Given the description of an element on the screen output the (x, y) to click on. 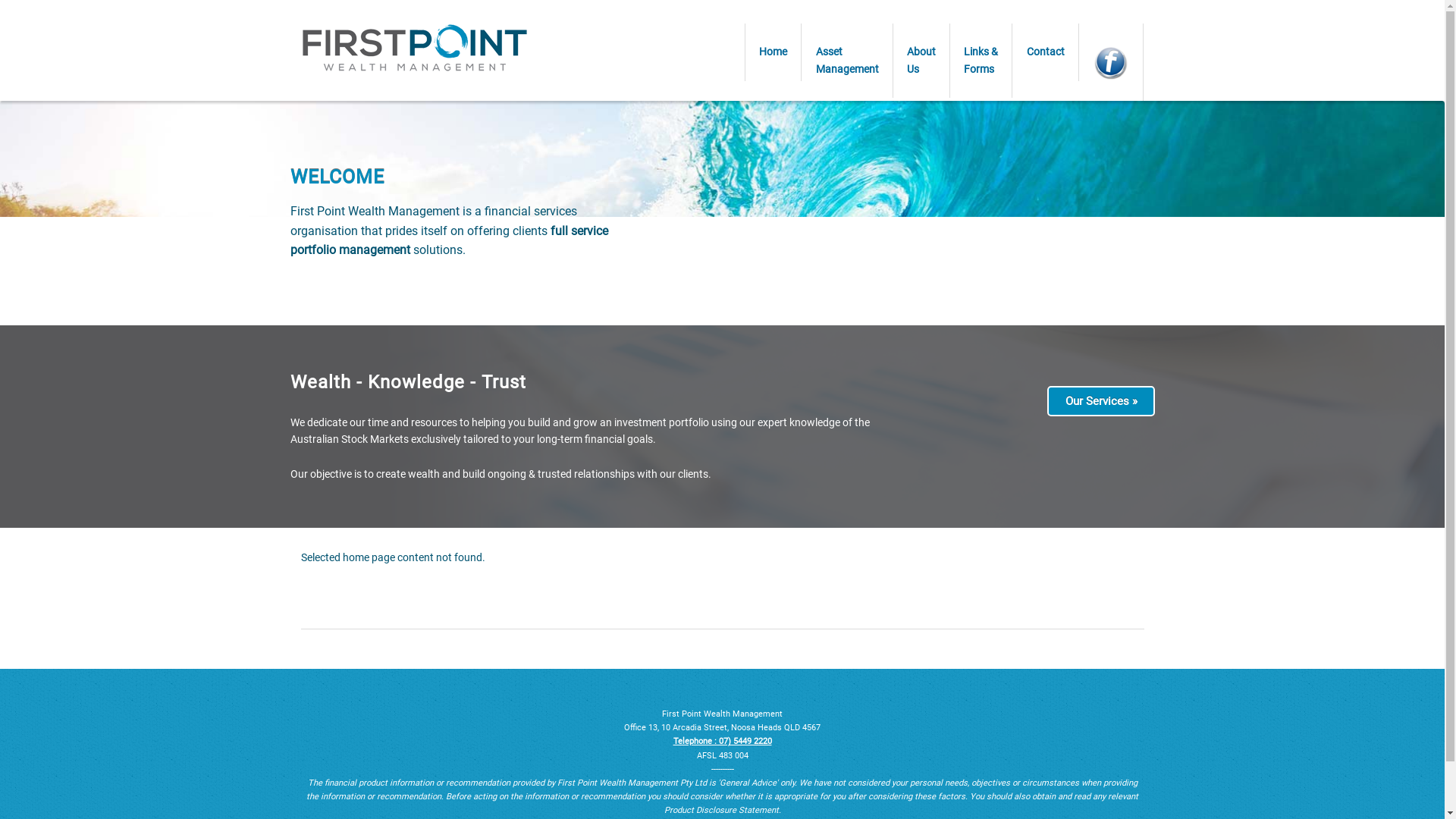
Links &
Forms Element type: text (980, 60)
full service portfolio management Element type: text (448, 240)
Home Element type: text (772, 52)
Stockbrokers & Share Portfolio Management Sunshine Coast Element type: hover (413, 46)
About
Us Element type: text (921, 60)
Telephone : 07) 5449 2220 Element type: text (722, 741)
Contact Element type: text (1045, 52)
WELCOME Element type: text (336, 177)
Asset
Management Element type: text (847, 60)
